Given the description of an element on the screen output the (x, y) to click on. 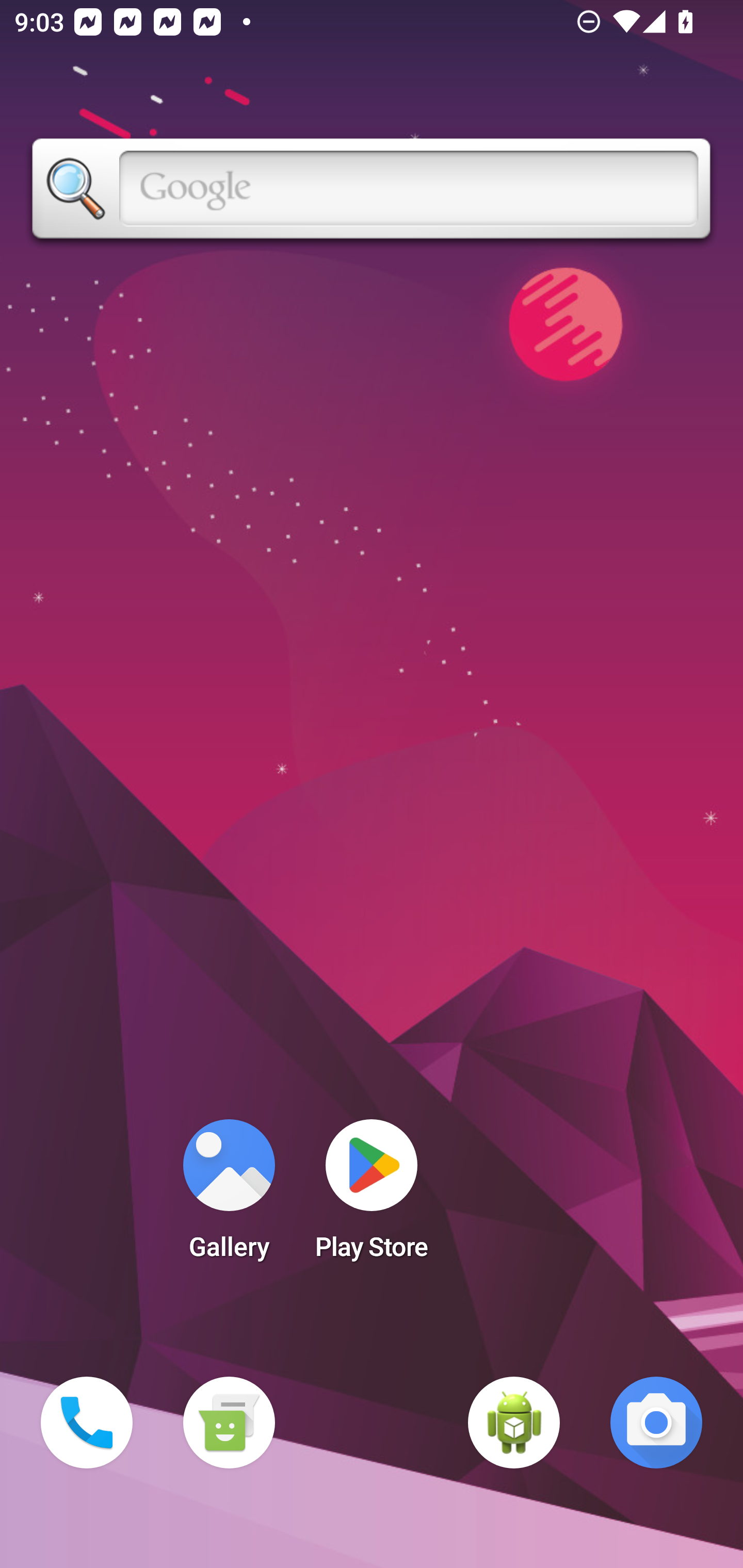
Gallery (228, 1195)
Play Store (371, 1195)
Phone (86, 1422)
Messaging (228, 1422)
WebView Browser Tester (513, 1422)
Camera (656, 1422)
